Given the description of an element on the screen output the (x, y) to click on. 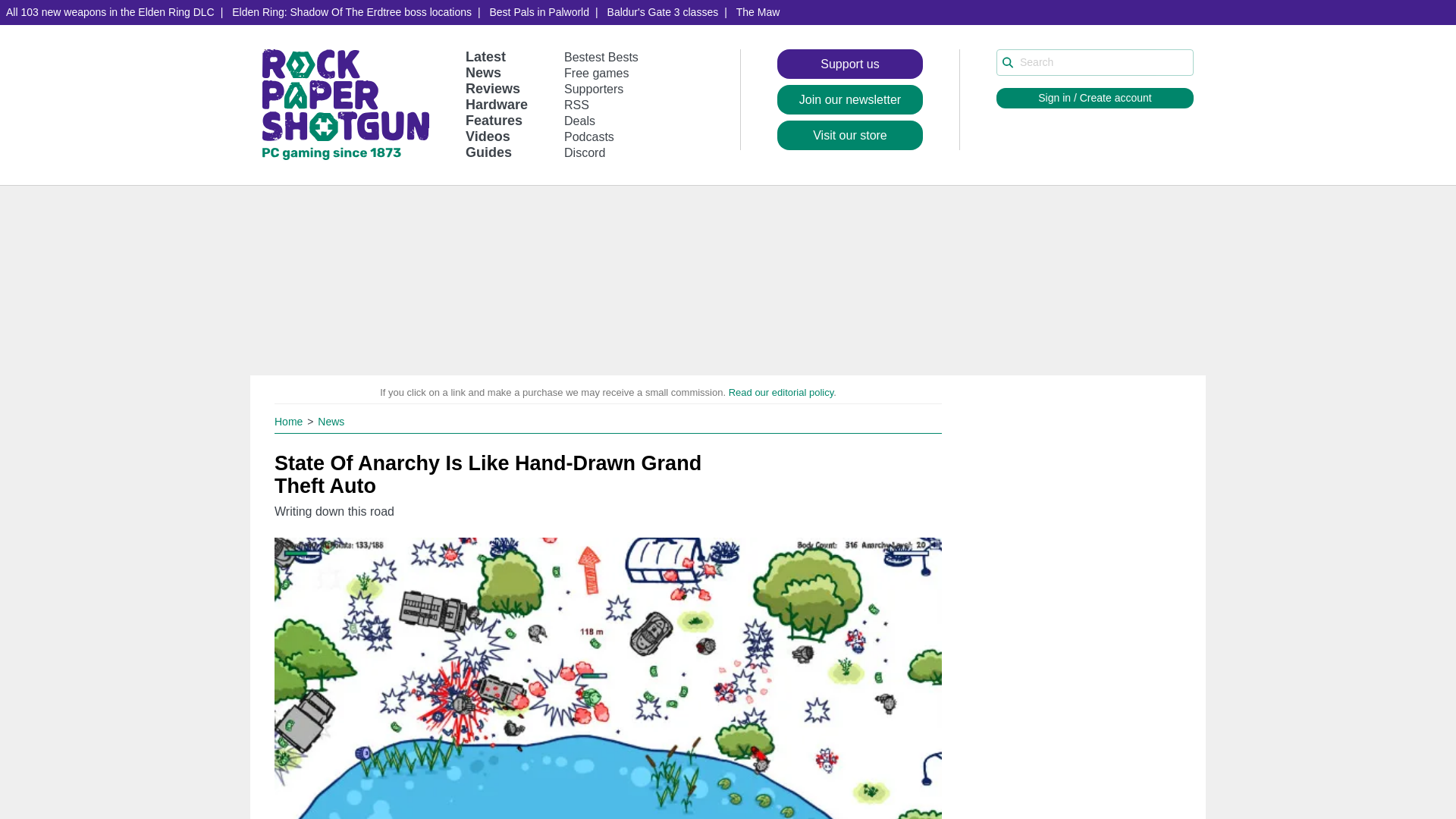
Videos (488, 136)
Elden Ring: Shadow Of The Erdtree boss locations (351, 12)
Baldur's Gate 3 classes (663, 12)
Latest (485, 56)
Latest (485, 56)
Podcasts (589, 136)
News (482, 72)
Videos (488, 136)
Podcasts (589, 136)
Join our newsletter (850, 99)
Supporters (593, 88)
RSS (576, 104)
Discord (584, 152)
Baldur's Gate 3 classes (663, 12)
The Maw (758, 12)
